Given the description of an element on the screen output the (x, y) to click on. 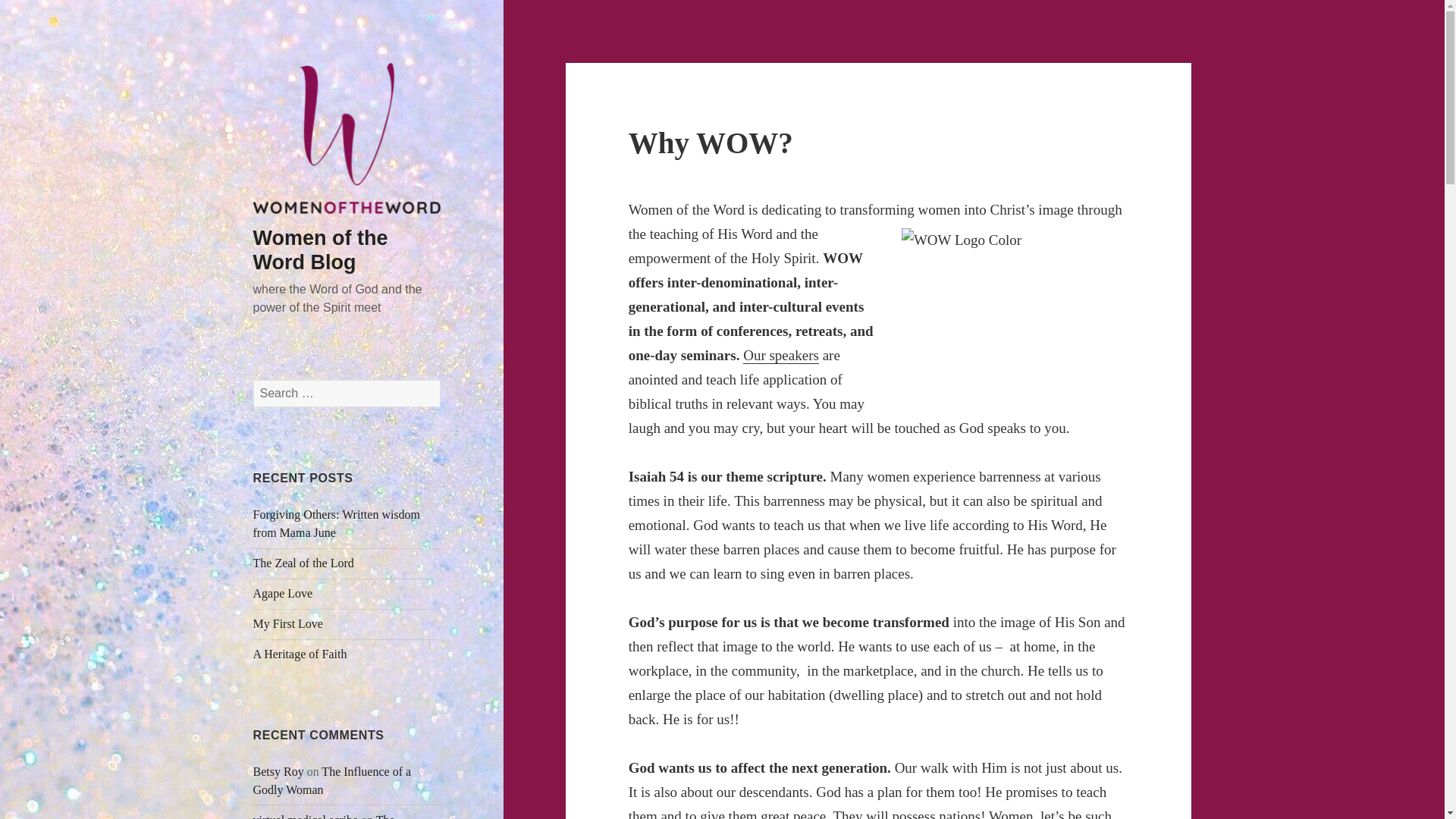
A Heritage of Faith (300, 653)
Forgiving Others: Written wisdom from Mama June (336, 522)
Women of the Word Blog (320, 249)
Agape Love (283, 593)
The Zeal of the Lord  (304, 562)
The Influence of a Godly Woman (323, 816)
The Influence of a Godly Woman (332, 780)
